Given the description of an element on the screen output the (x, y) to click on. 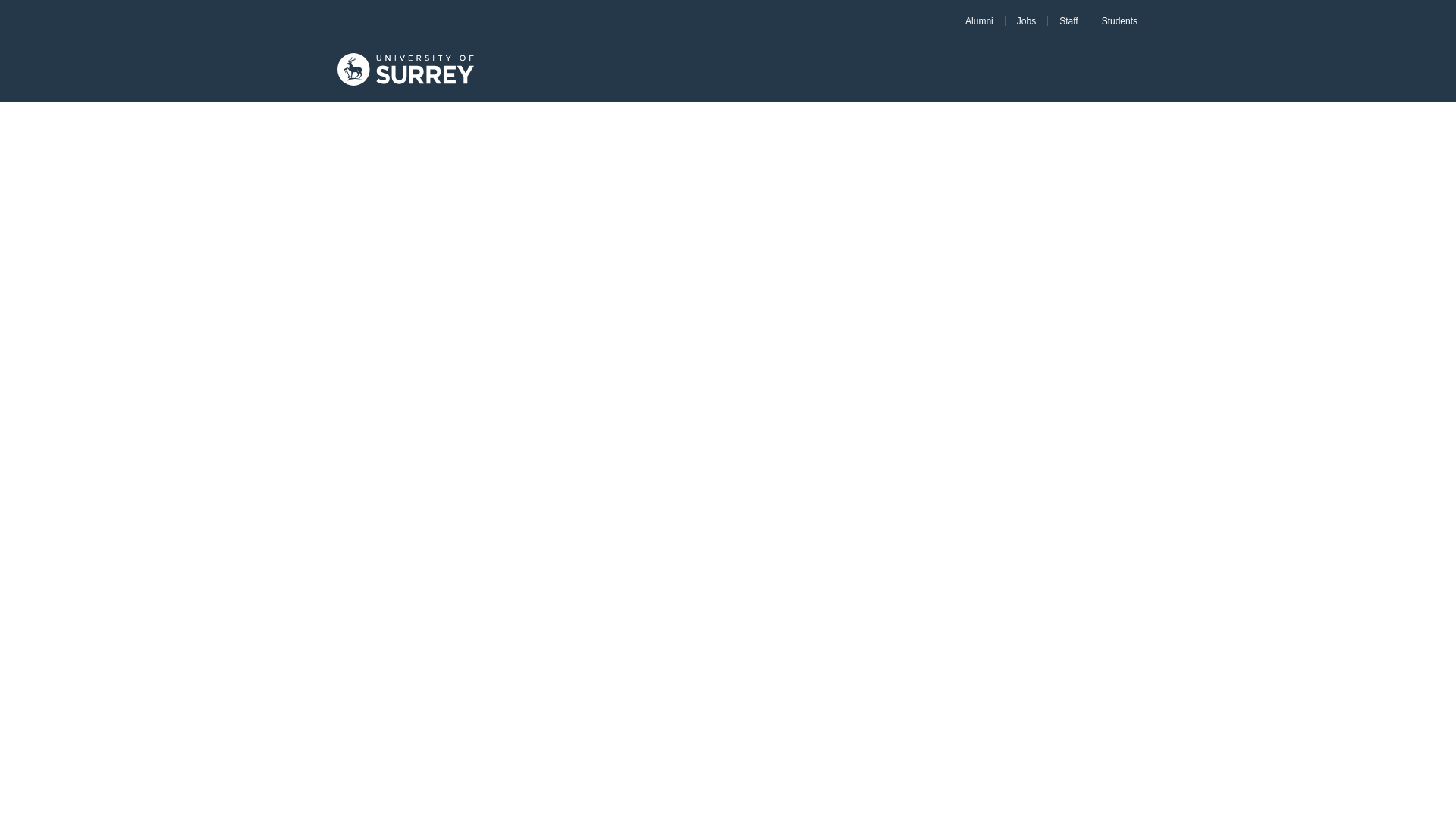
Home (405, 71)
Alumni (978, 20)
Staff (1068, 20)
Students (1119, 20)
Jobs (1026, 20)
